Given the description of an element on the screen output the (x, y) to click on. 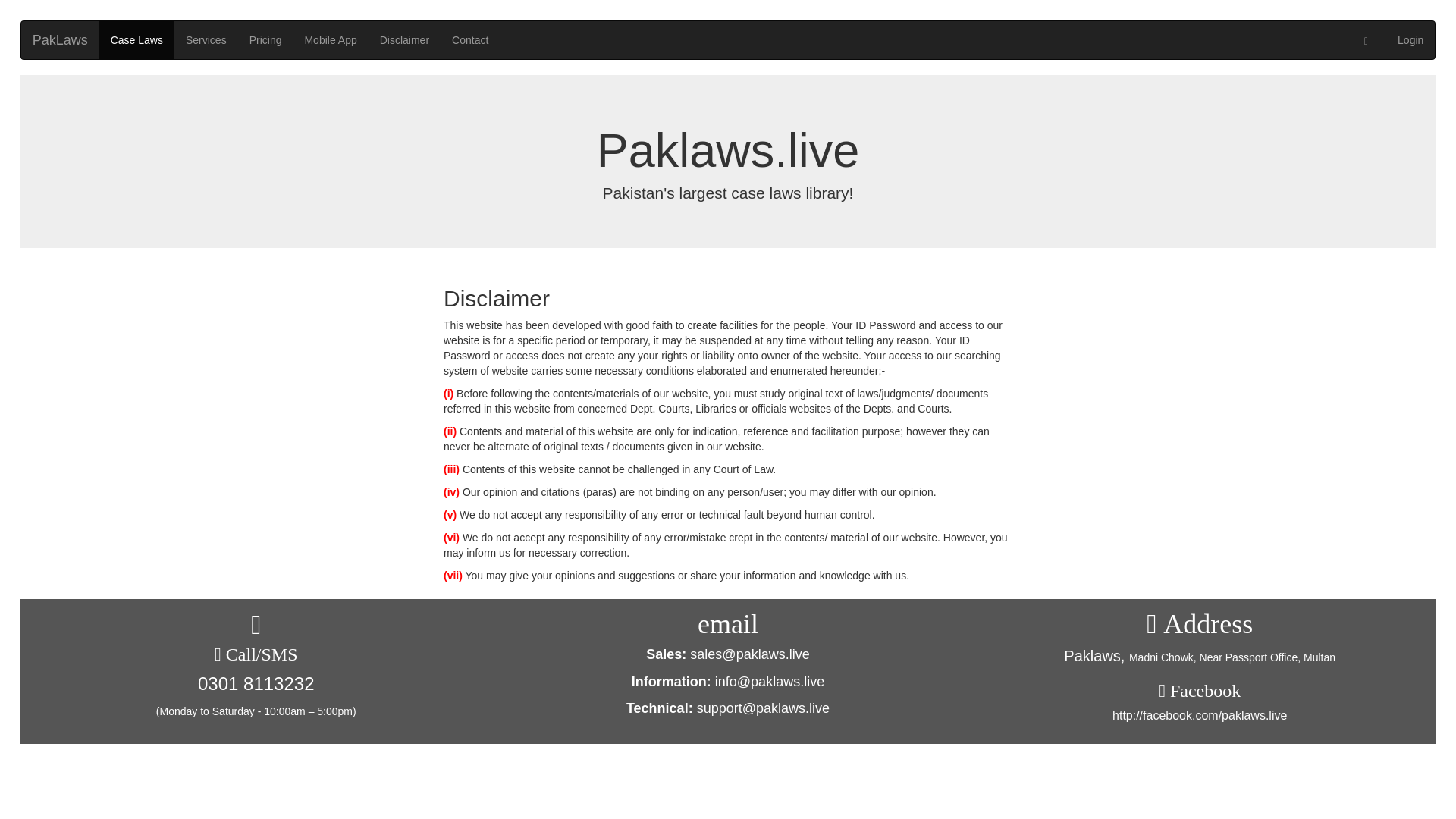
Disclaimer (404, 39)
Contact (470, 39)
Mobile App (330, 39)
Case Laws (136, 39)
Services (206, 39)
PakLaws (60, 39)
Pricing (266, 39)
